Given the description of an element on the screen output the (x, y) to click on. 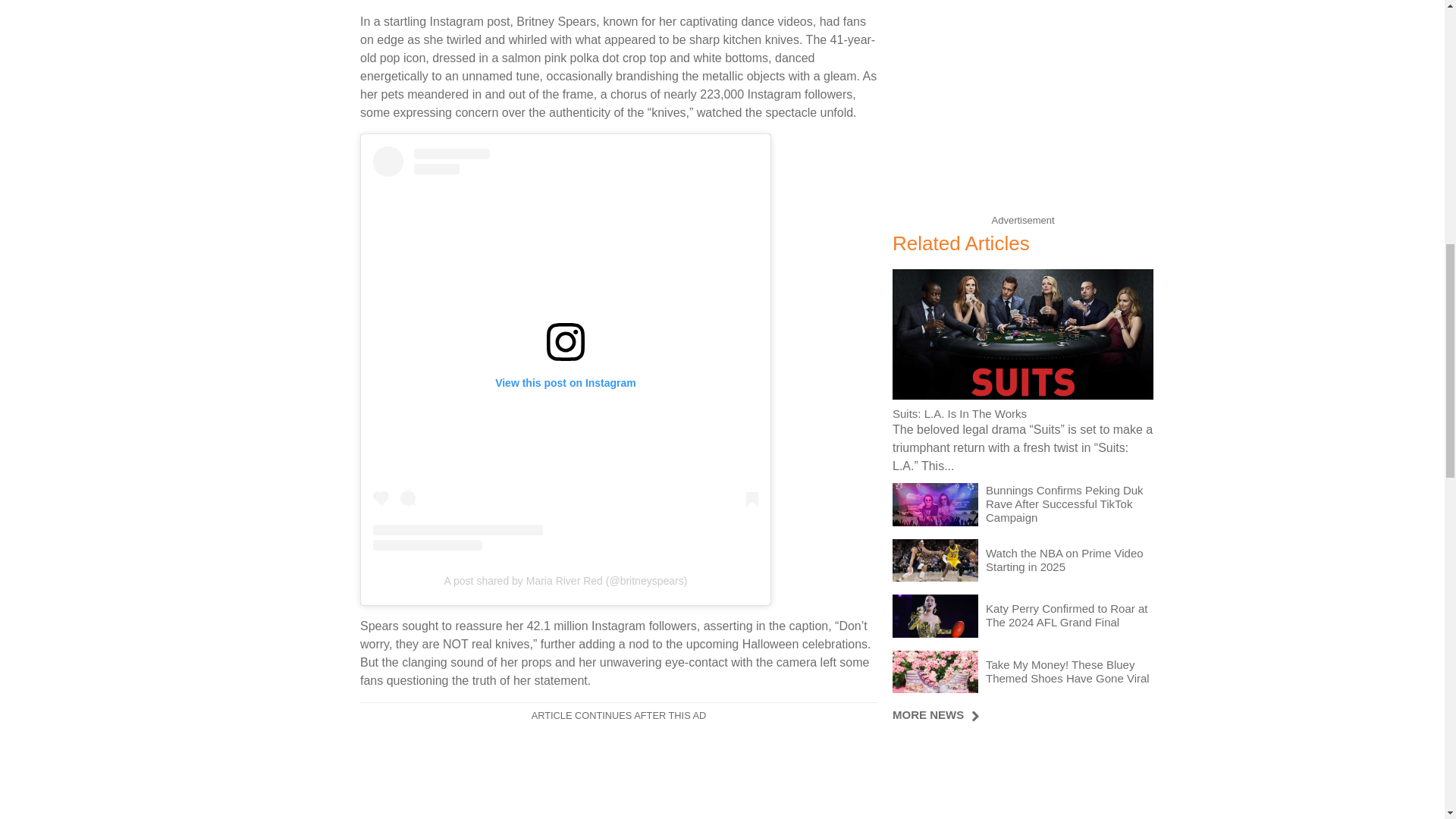
3rd party ad content (618, 775)
3rd party ad content (1022, 778)
3rd party ad content (1022, 113)
